Given the description of an element on the screen output the (x, y) to click on. 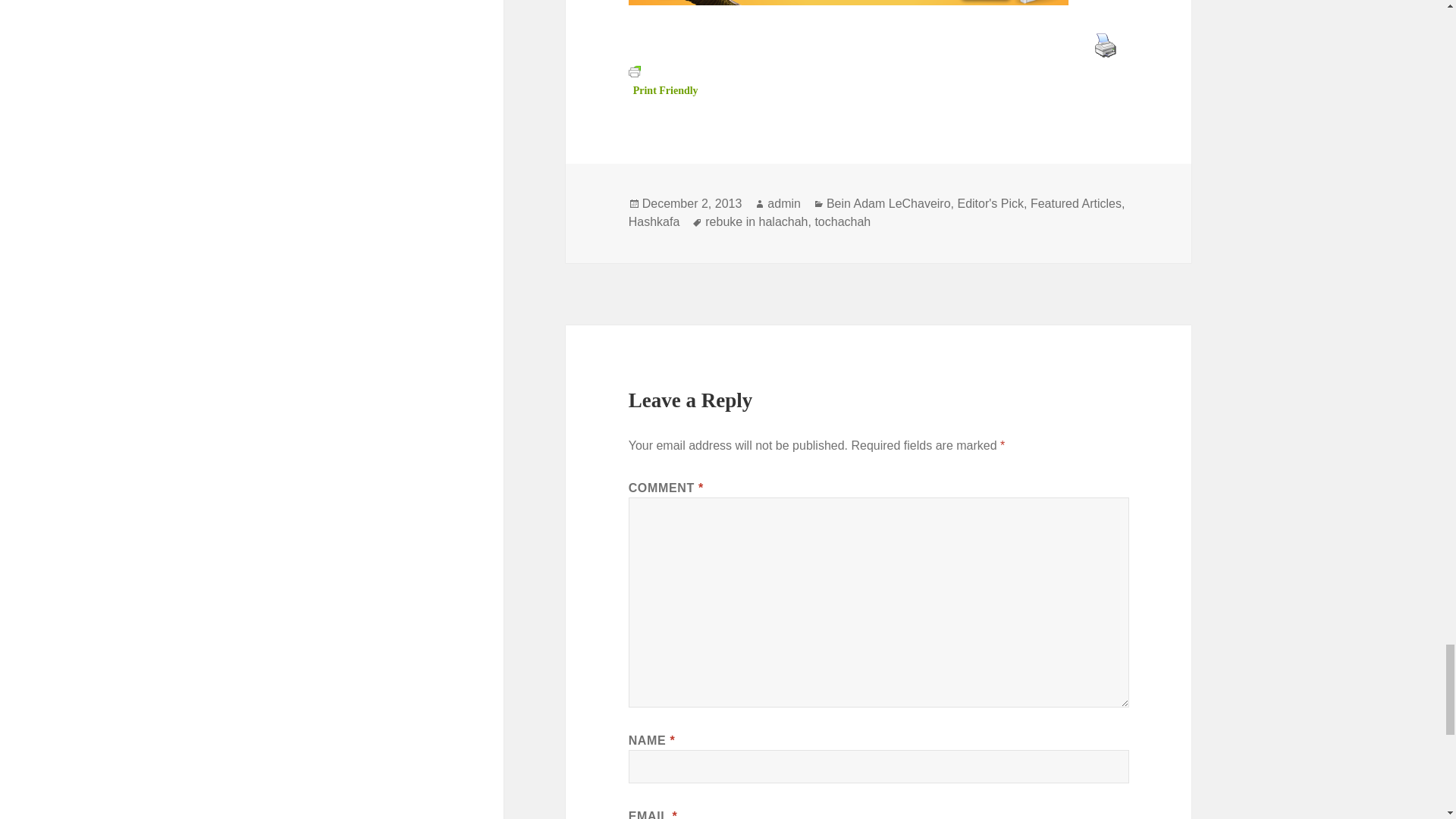
Print Friendly (663, 80)
admin (783, 203)
rebuke in halachah (756, 222)
Bein Adam LeChaveiro (888, 203)
December 2, 2013 (692, 203)
Print Content (1105, 44)
Hashkafa (653, 222)
tochachah (841, 222)
Featured Articles (1075, 203)
Editor's Pick (989, 203)
